Given the description of an element on the screen output the (x, y) to click on. 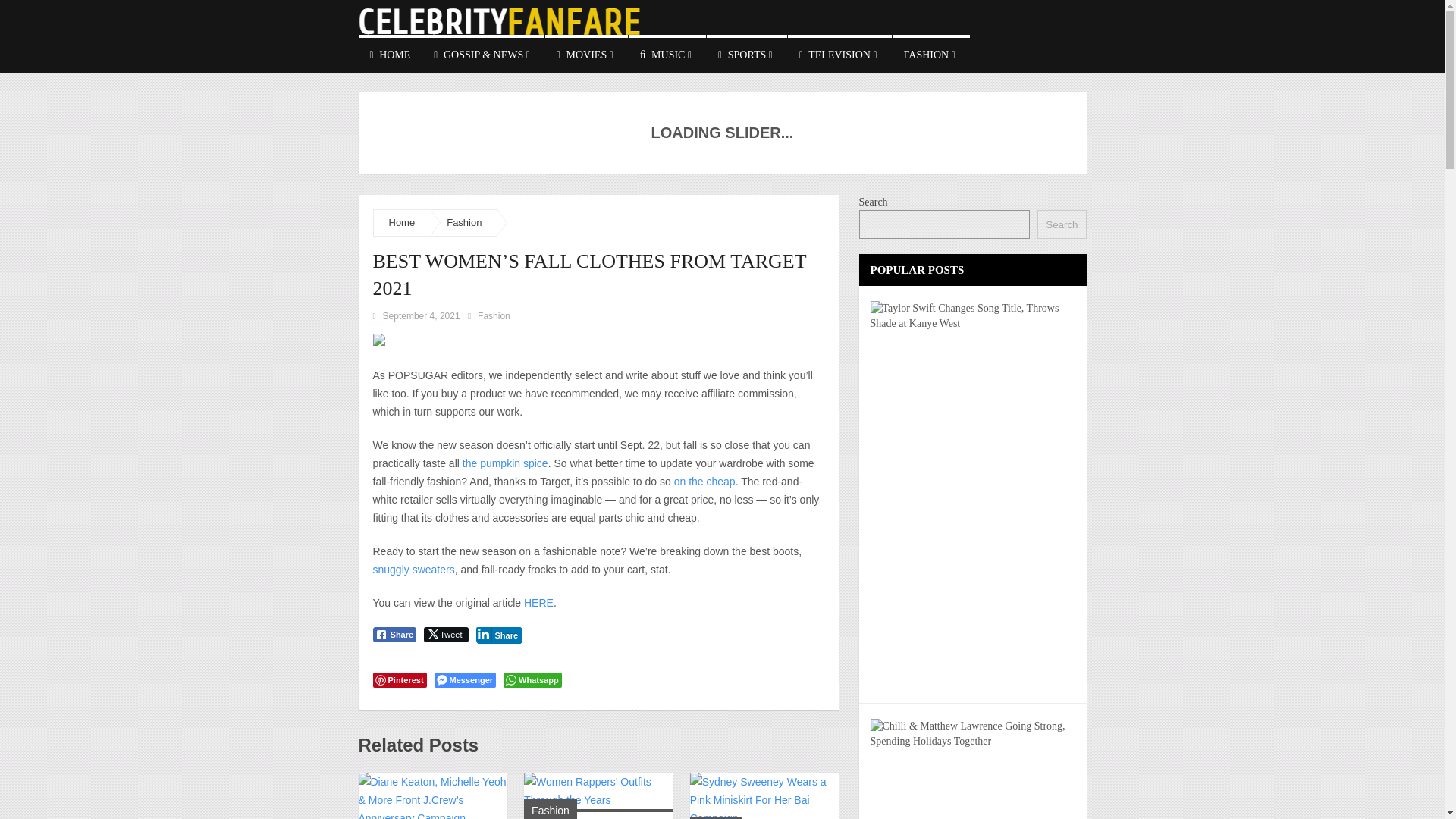
the pumpkin spice (505, 463)
HERE (537, 603)
Fashion (463, 222)
Home (401, 222)
Share (394, 634)
on the cheap (704, 481)
FASHION (930, 53)
HOME (390, 53)
MOVIES (585, 53)
SPORTS (746, 53)
